Given the description of an element on the screen output the (x, y) to click on. 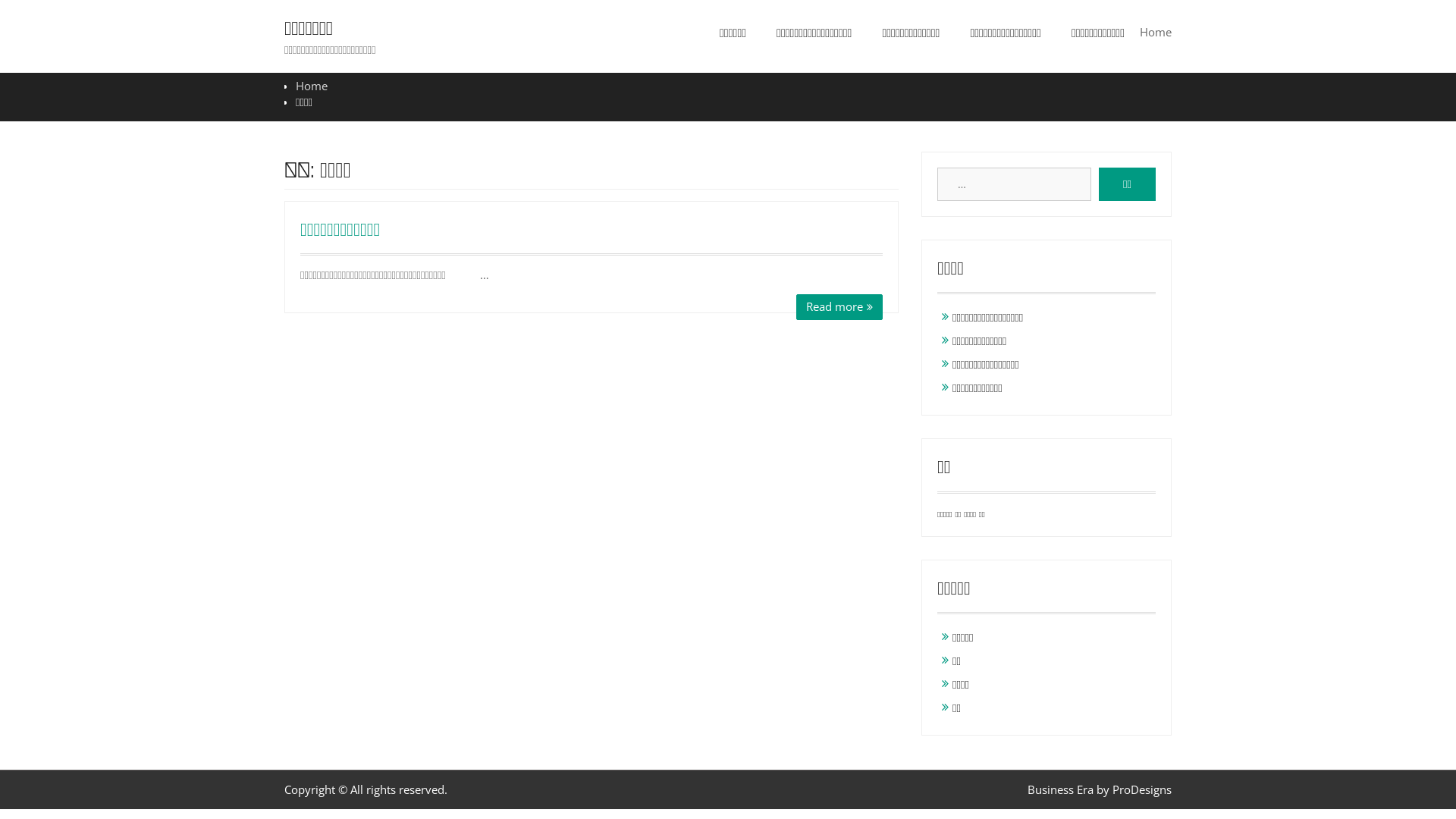
ProDesigns Element type: text (1141, 789)
Read more Element type: text (839, 307)
Home Element type: text (311, 85)
